Given the description of an element on the screen output the (x, y) to click on. 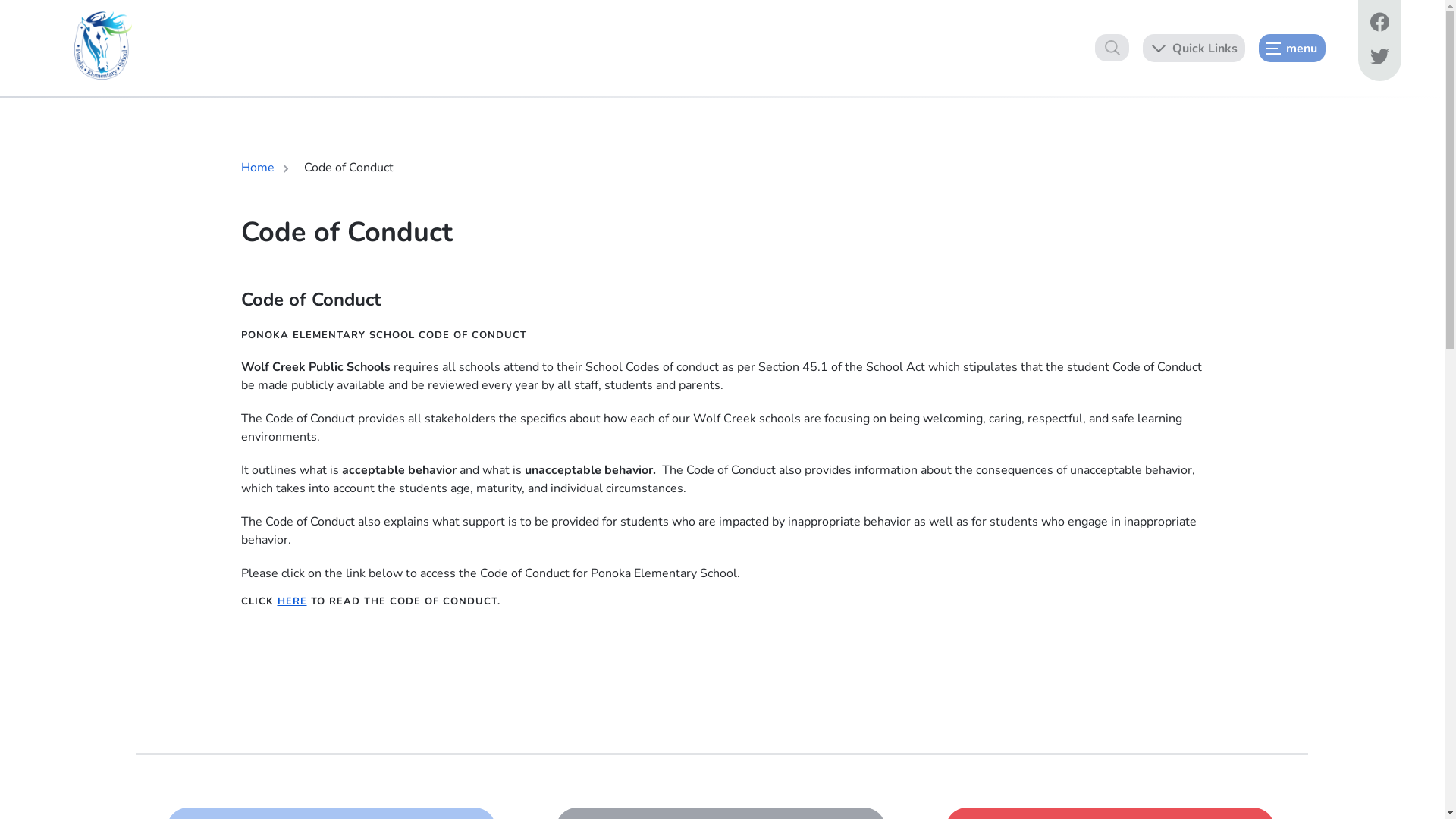
Twitter Element type: text (1378, 58)
home Element type: hover (103, 45)
Quick Links Element type: text (1193, 47)
menu Element type: text (1291, 47)
HERE Element type: text (292, 601)
Facebook Element type: text (1378, 24)
Home Element type: text (257, 168)
